Given the description of an element on the screen output the (x, y) to click on. 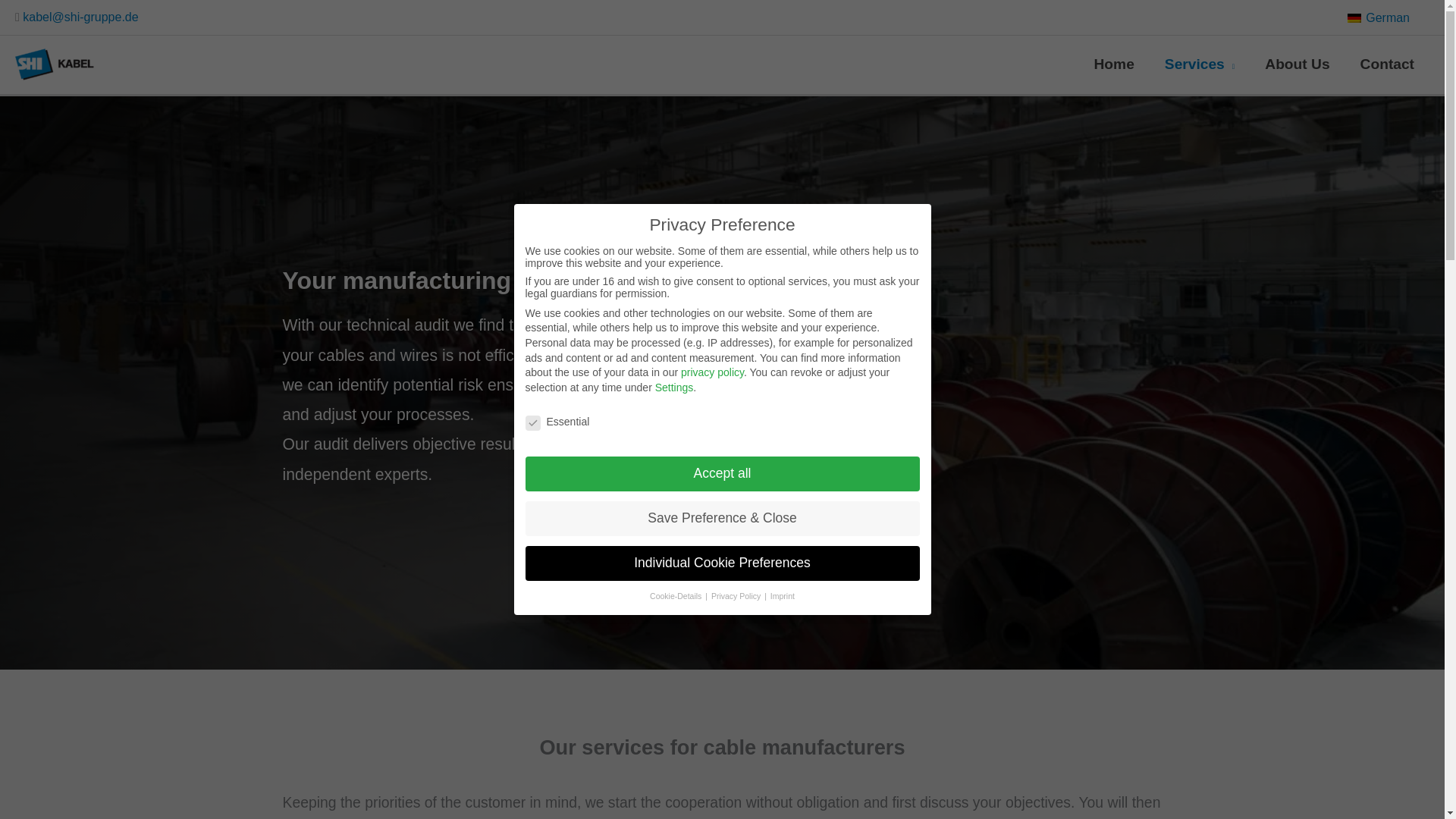
Services (1199, 65)
privacy policy (712, 372)
About Us (1296, 65)
Contact (1387, 65)
Accept all (721, 473)
Settings (674, 387)
German (1377, 17)
Home (1114, 65)
